Given the description of an element on the screen output the (x, y) to click on. 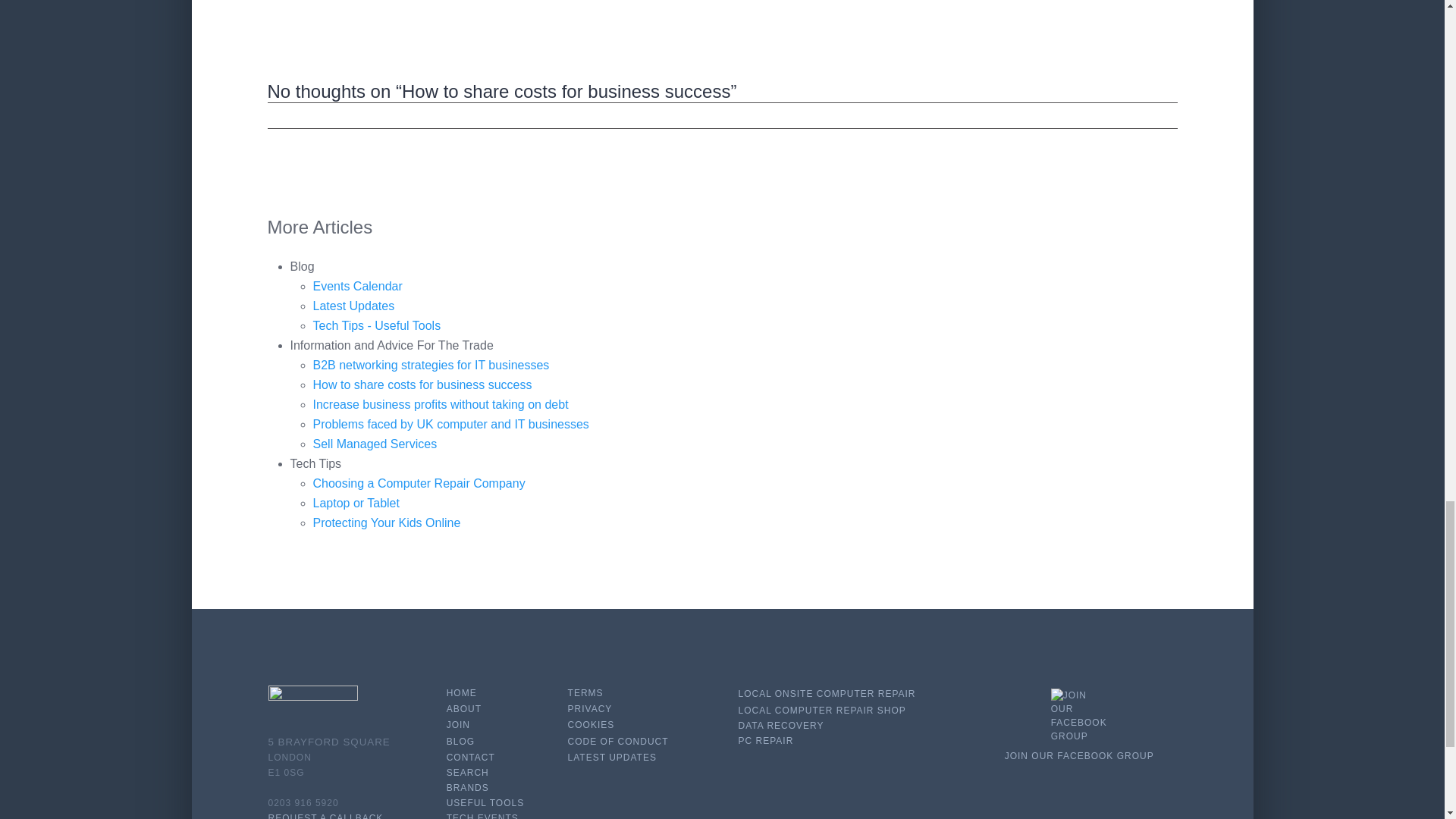
Latest Updates (353, 305)
COOKIES (590, 724)
BRANDS (467, 787)
LATEST UPDATES (611, 757)
Find a local computer repair shop (821, 710)
Increase business profits without taking on debt (440, 404)
CODE OF CONDUCT (617, 741)
HOME (461, 692)
CONTACT (470, 757)
Problems faced by UK computer and IT businesses (450, 423)
USEFUL TOOLS (485, 802)
Events Calendar (357, 286)
Call me back (325, 816)
BLOG (460, 741)
REQUEST A CALLBACK (325, 816)
